Given the description of an element on the screen output the (x, y) to click on. 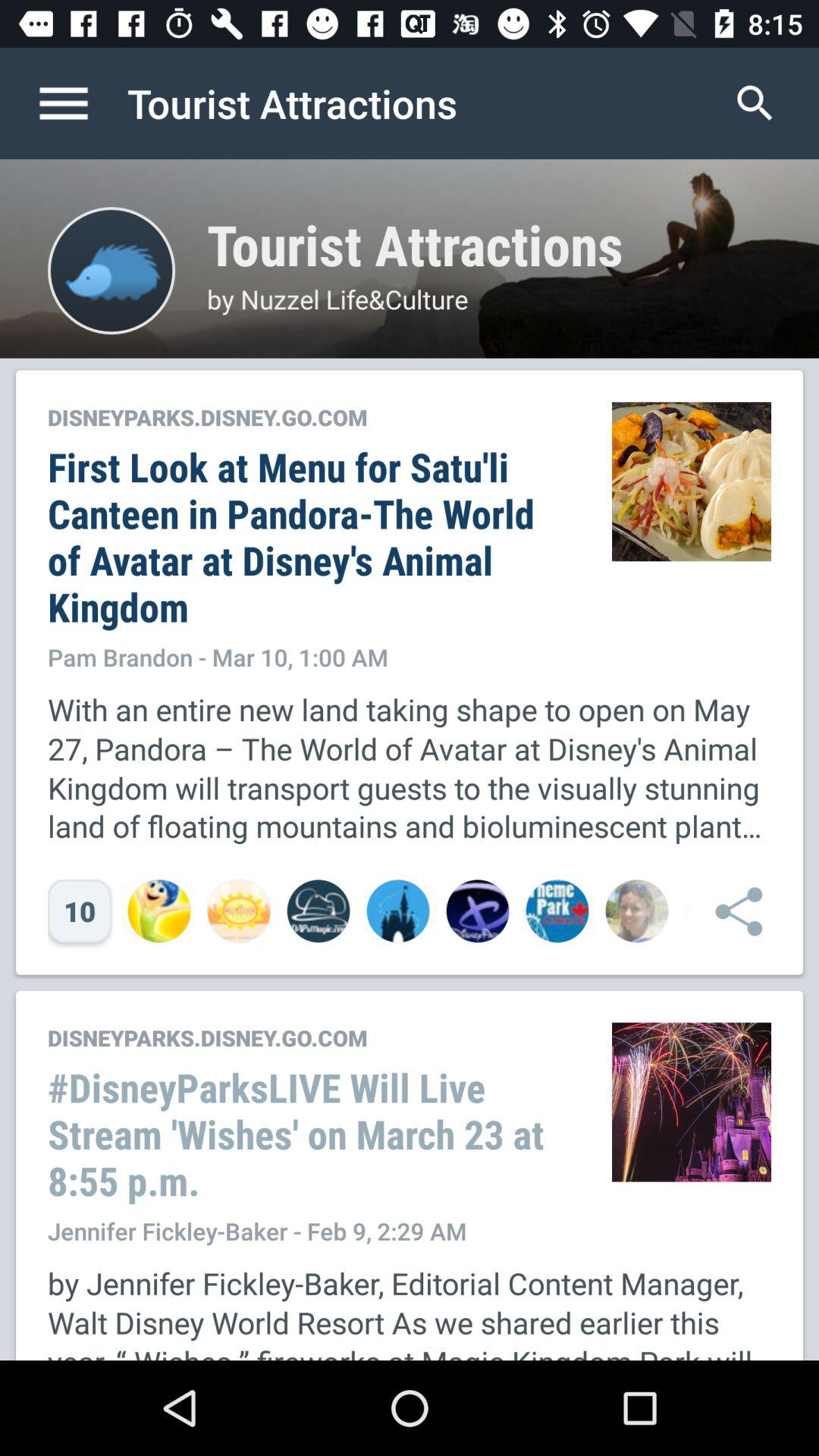
turn off icon to the left of tourist attractions item (79, 103)
